Given the description of an element on the screen output the (x, y) to click on. 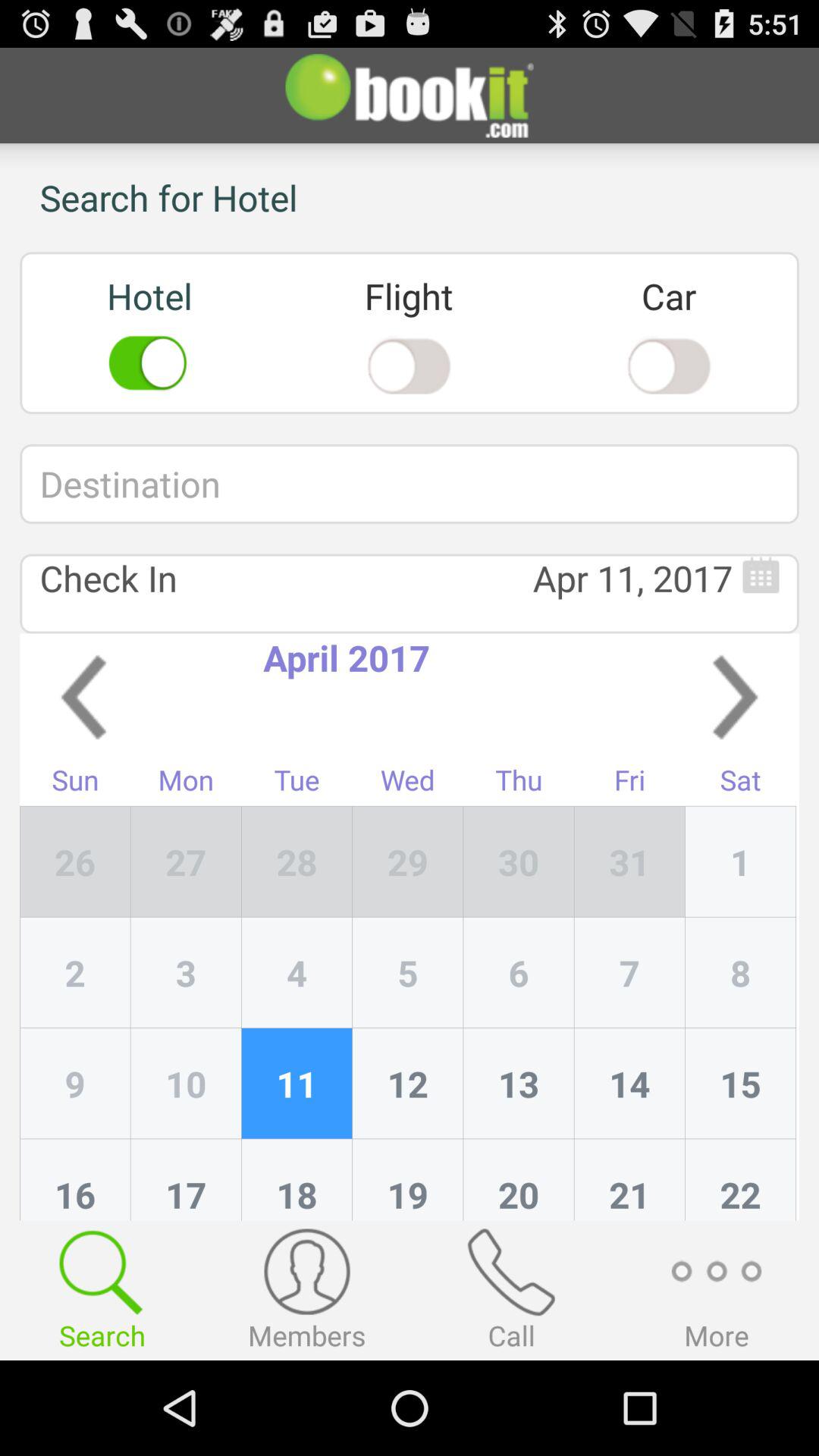
press the app to the right of the wed item (518, 783)
